Given the description of an element on the screen output the (x, y) to click on. 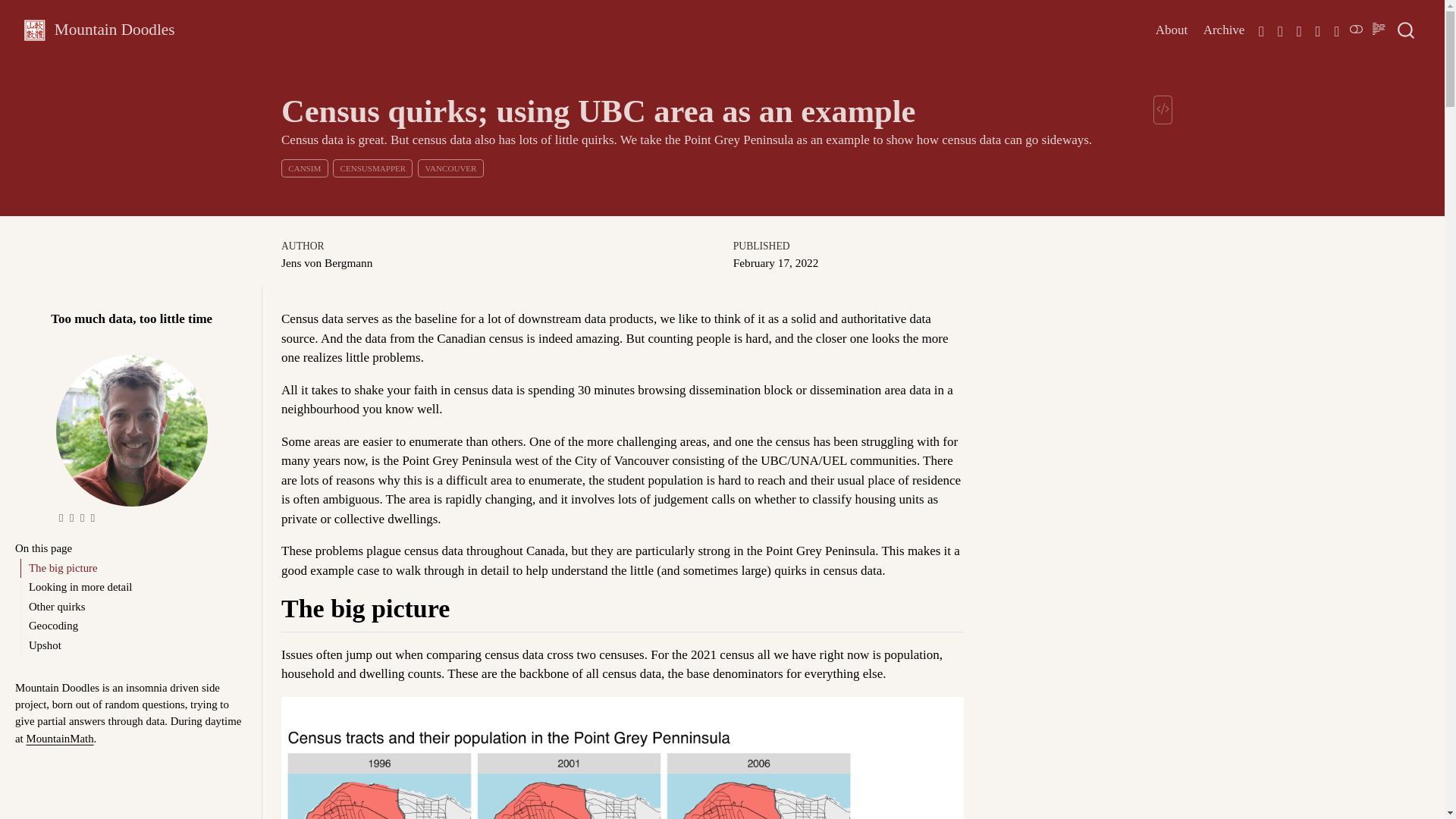
Other quirks (134, 606)
Upshot (134, 644)
Looking in more detail (134, 587)
Archive (1223, 29)
Mountain Doodles (114, 29)
Search (1406, 29)
Toggle reader mode (1247, 29)
About (1379, 29)
CENSUSMAPPER (1171, 29)
